Given the description of an element on the screen output the (x, y) to click on. 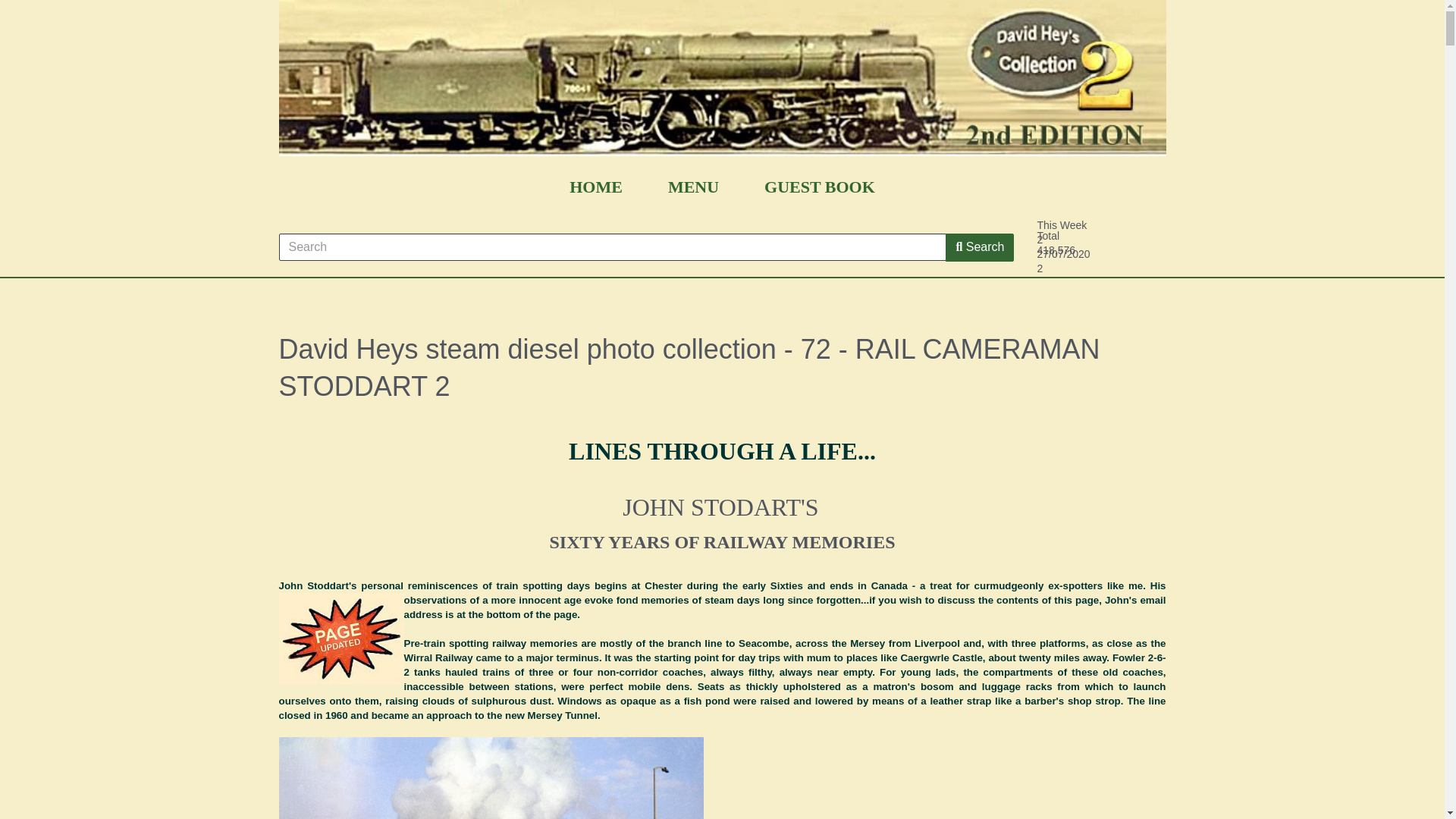
GUEST BOOK (819, 186)
MENU (693, 186)
HOME (596, 186)
Search (978, 247)
